Given the description of an element on the screen output the (x, y) to click on. 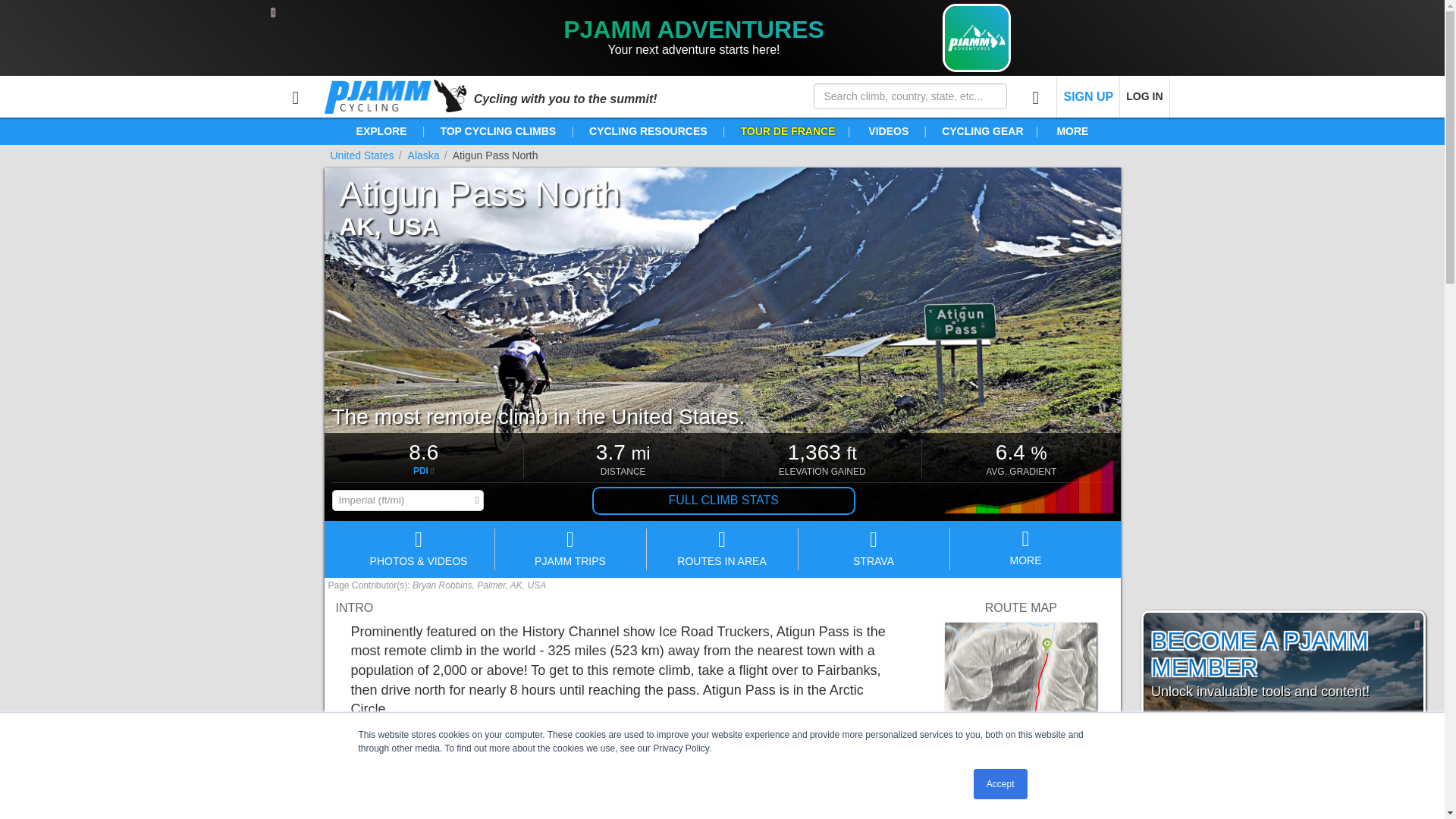
TOUR DE FRANCE (786, 131)
CYCLING GEAR (982, 131)
Accept (1000, 784)
